Given the description of an element on the screen output the (x, y) to click on. 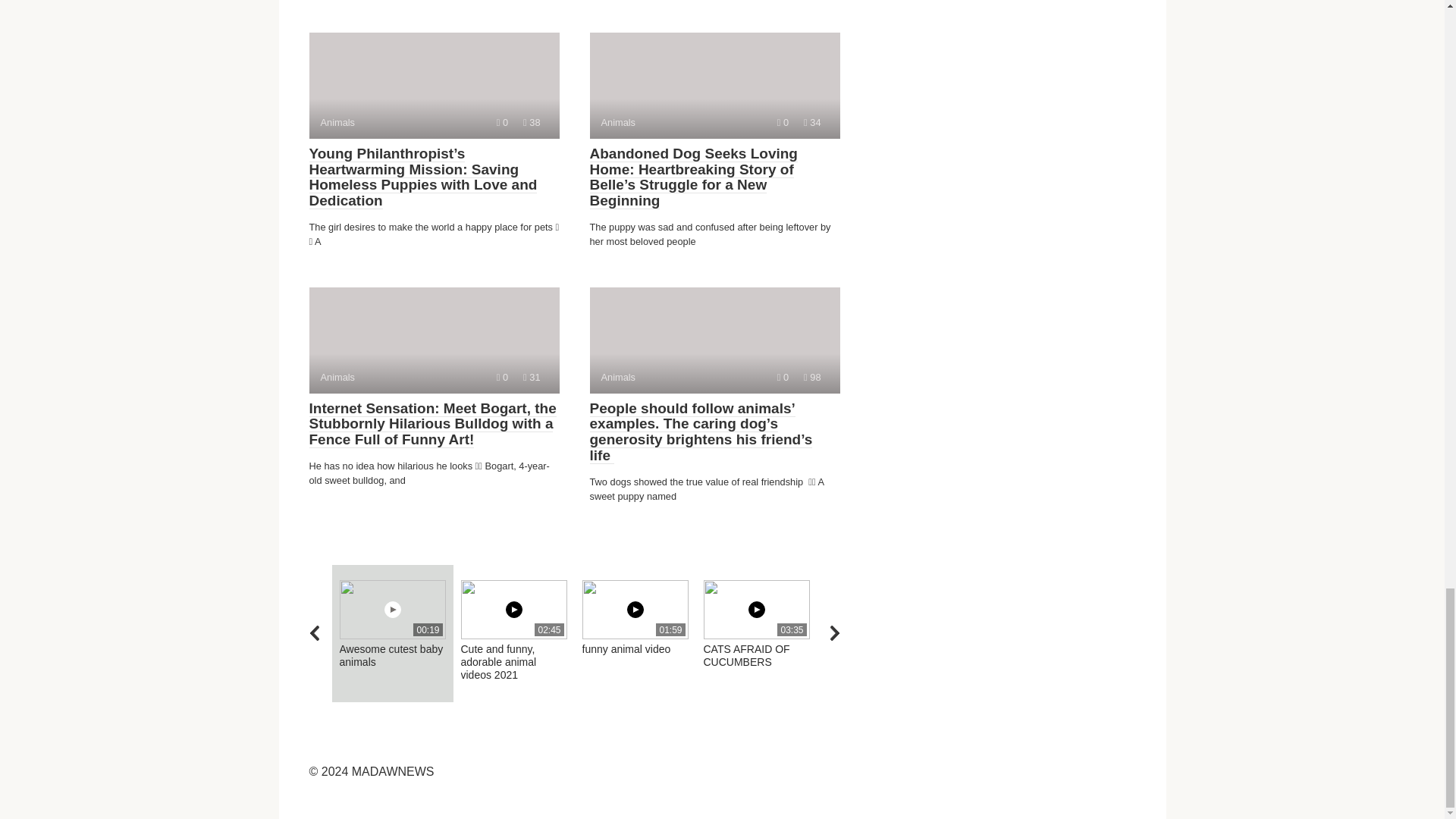
Comments (714, 85)
Comments (433, 85)
Comments (502, 377)
Views (433, 340)
